Given the description of an element on the screen output the (x, y) to click on. 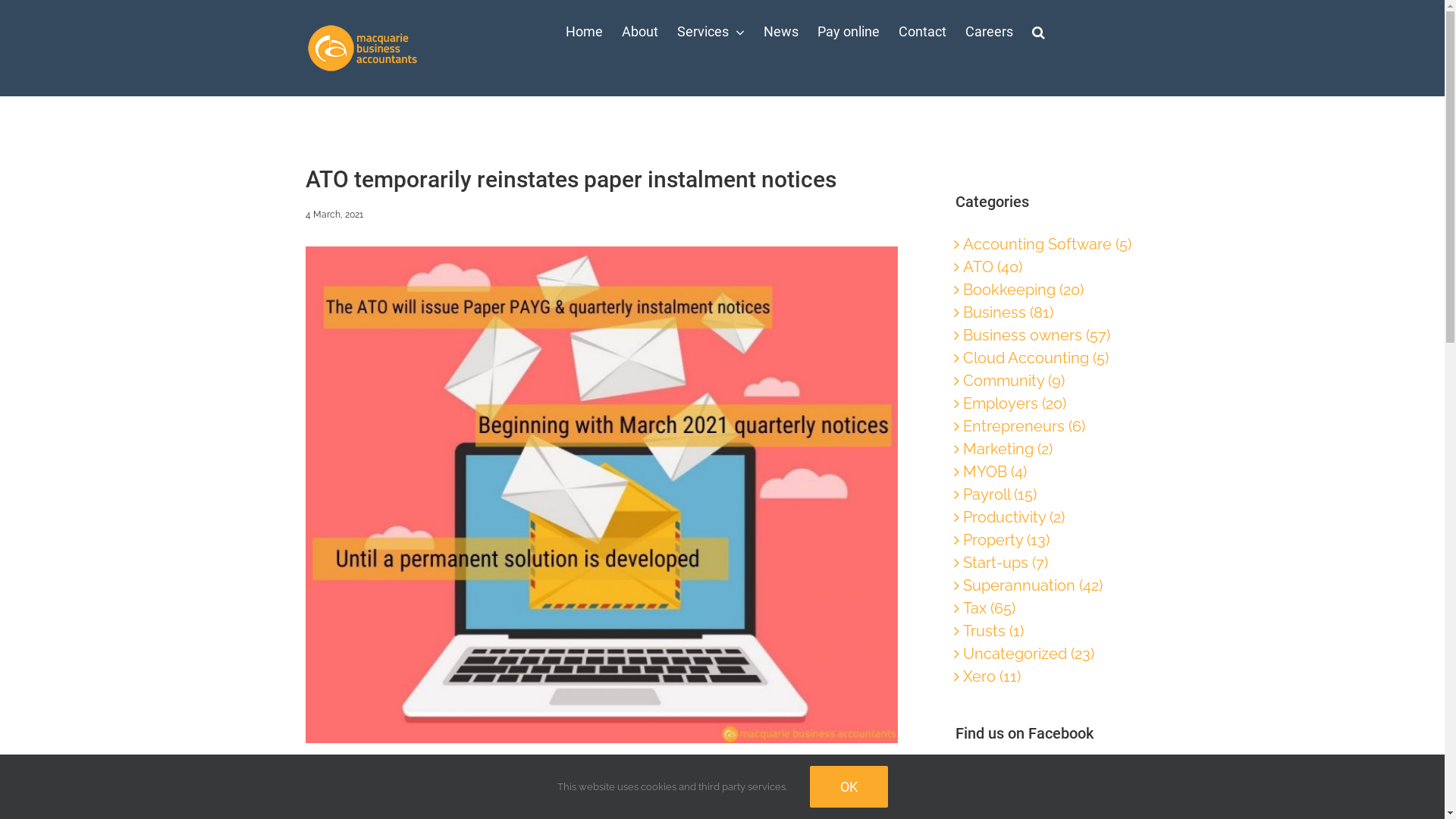
Accounting Software (5) Element type: text (1047, 243)
OK Element type: text (848, 786)
Superannuation (42) Element type: text (1047, 585)
Home Element type: text (583, 31)
Bookkeeping (20) Element type: text (1047, 289)
Productivity (2) Element type: text (1047, 516)
News Element type: text (779, 31)
Xero (11) Element type: text (1047, 676)
Tax (65) Element type: text (1047, 607)
Uncategorized (23) Element type: text (1047, 653)
Cloud Accounting (5) Element type: text (1047, 357)
Entrepreneurs (6) Element type: text (1047, 425)
Contact Element type: text (921, 31)
Pay online Element type: text (848, 31)
Payroll (15) Element type: text (1047, 494)
Employers (20) Element type: text (1047, 403)
ATO (40) Element type: text (1047, 266)
About Element type: text (639, 31)
Start-ups (7) Element type: text (1047, 562)
MYOB (4) Element type: text (1047, 471)
Community (9) Element type: text (1047, 380)
Trusts (1) Element type: text (1047, 630)
Search Element type: hover (1037, 31)
Business owners (57) Element type: text (1047, 334)
Business (81) Element type: text (1047, 312)
Careers Element type: text (988, 31)
Property (13) Element type: text (1047, 539)
Marketing (2) Element type: text (1047, 448)
Services Element type: text (709, 31)
